Given the description of an element on the screen output the (x, y) to click on. 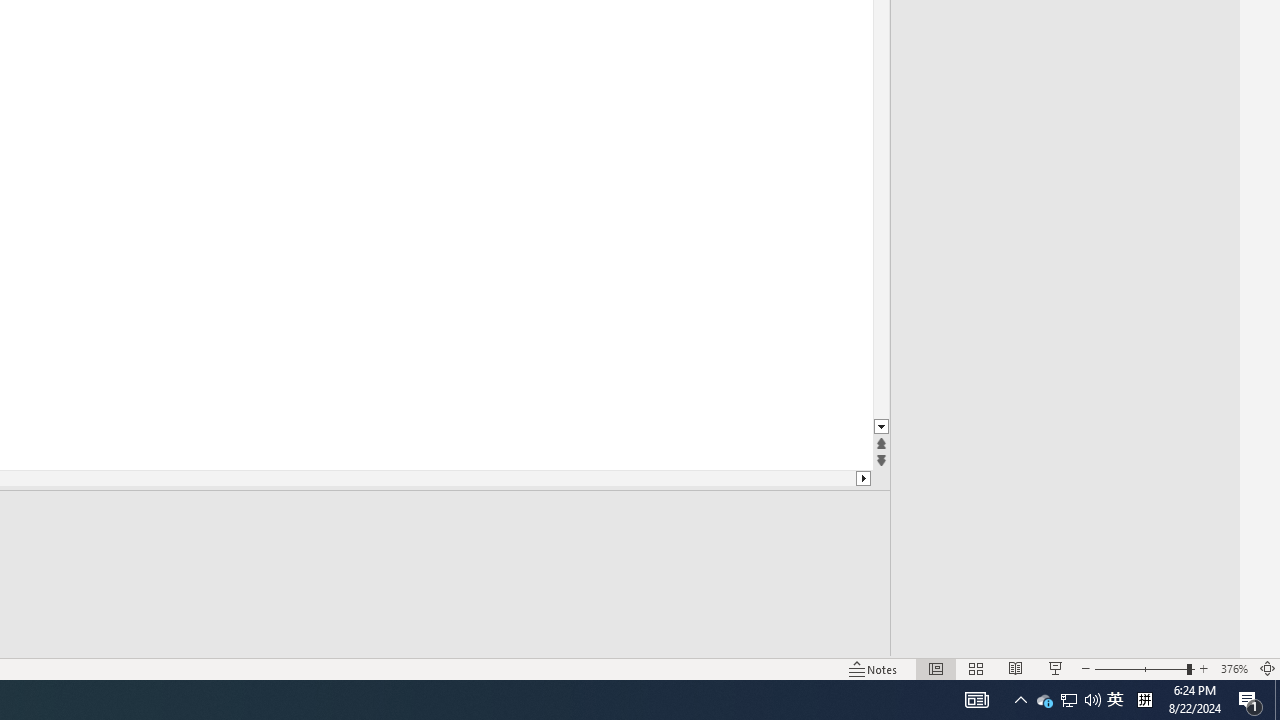
Zoom 376% (1234, 668)
